Given the description of an element on the screen output the (x, y) to click on. 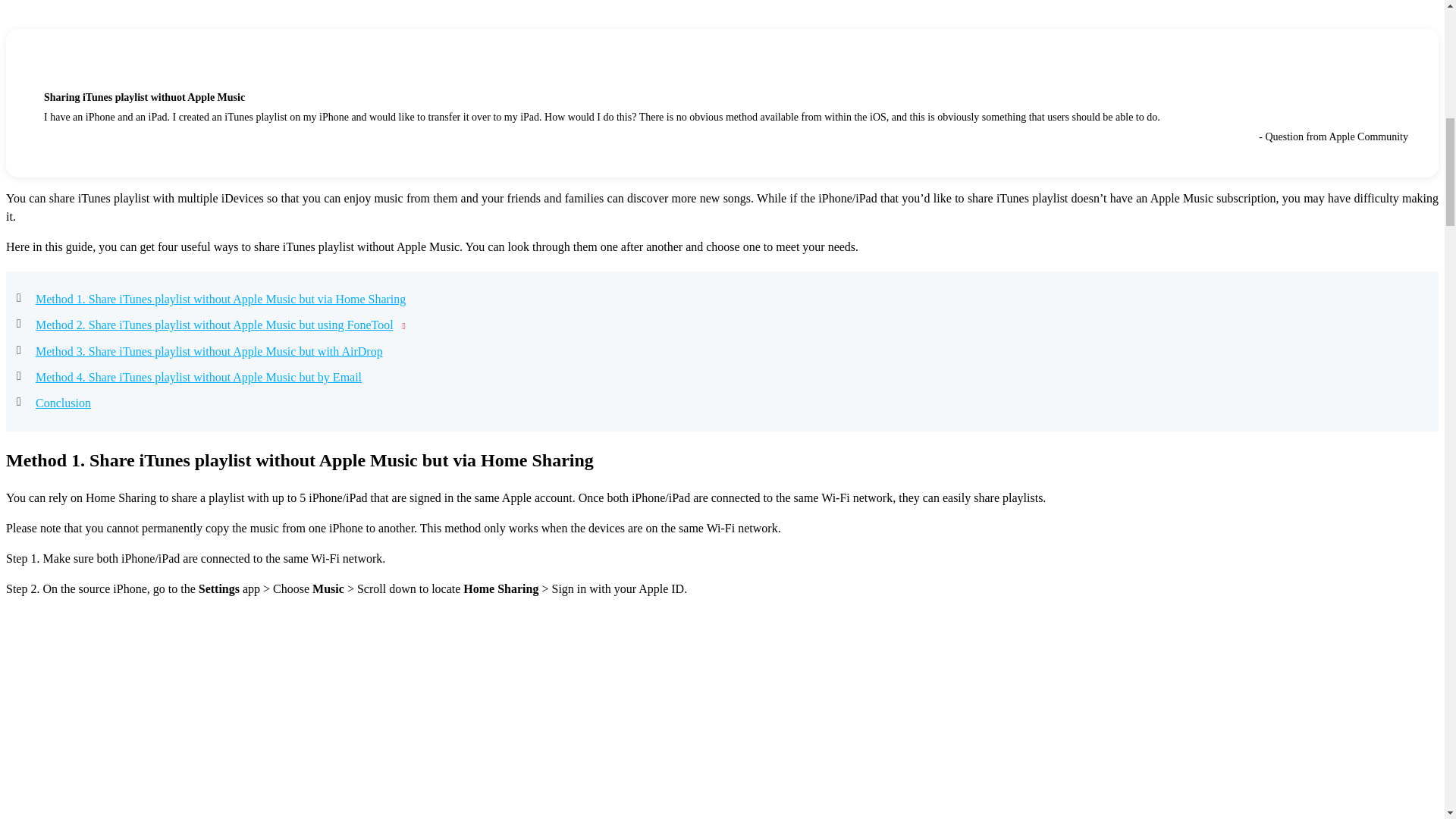
Conclusion (62, 402)
